Given the description of an element on the screen output the (x, y) to click on. 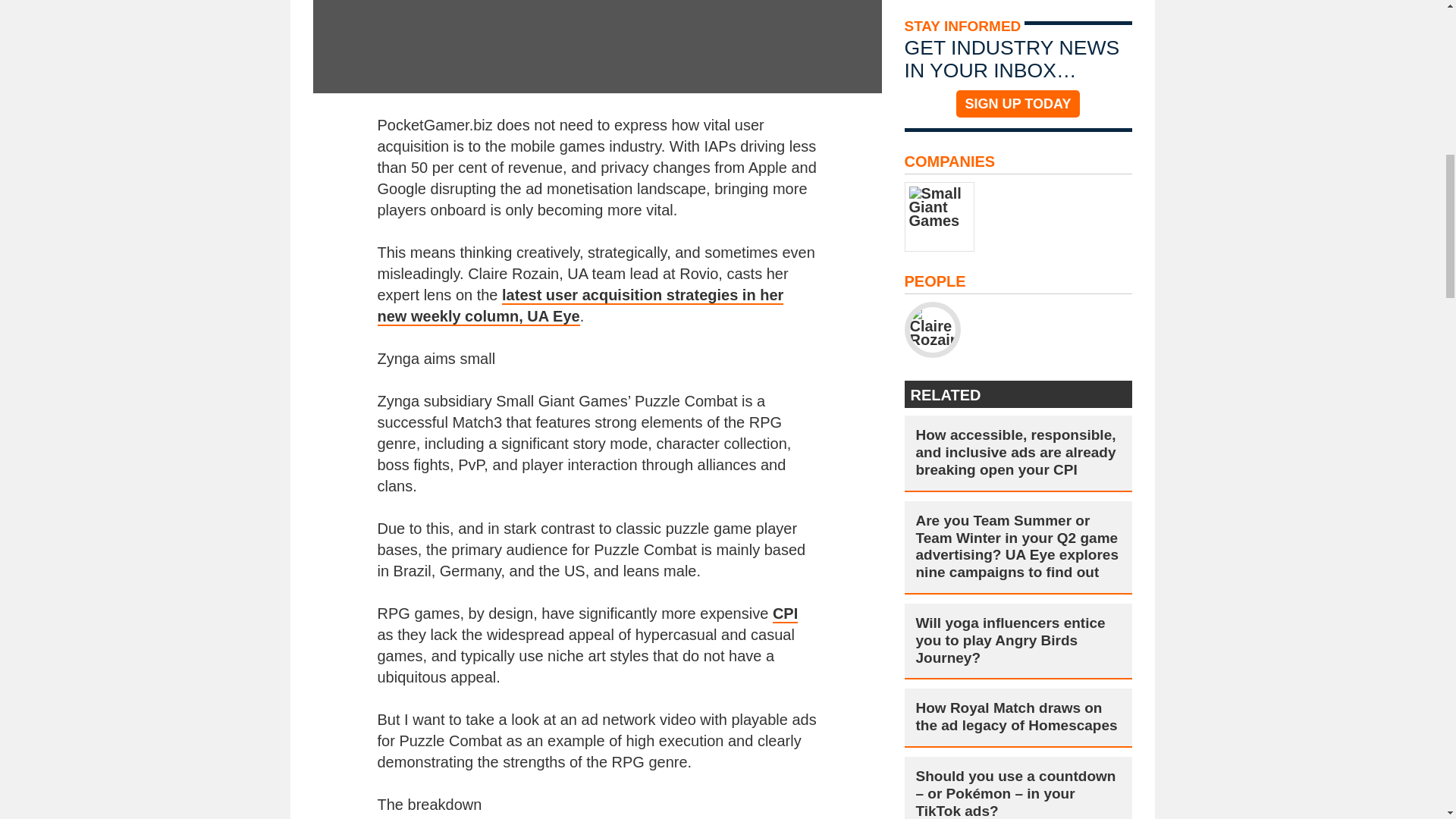
CPI (785, 614)
How Royal Match draws on the ad legacy of Homescapes (1017, 717)
